Given the description of an element on the screen output the (x, y) to click on. 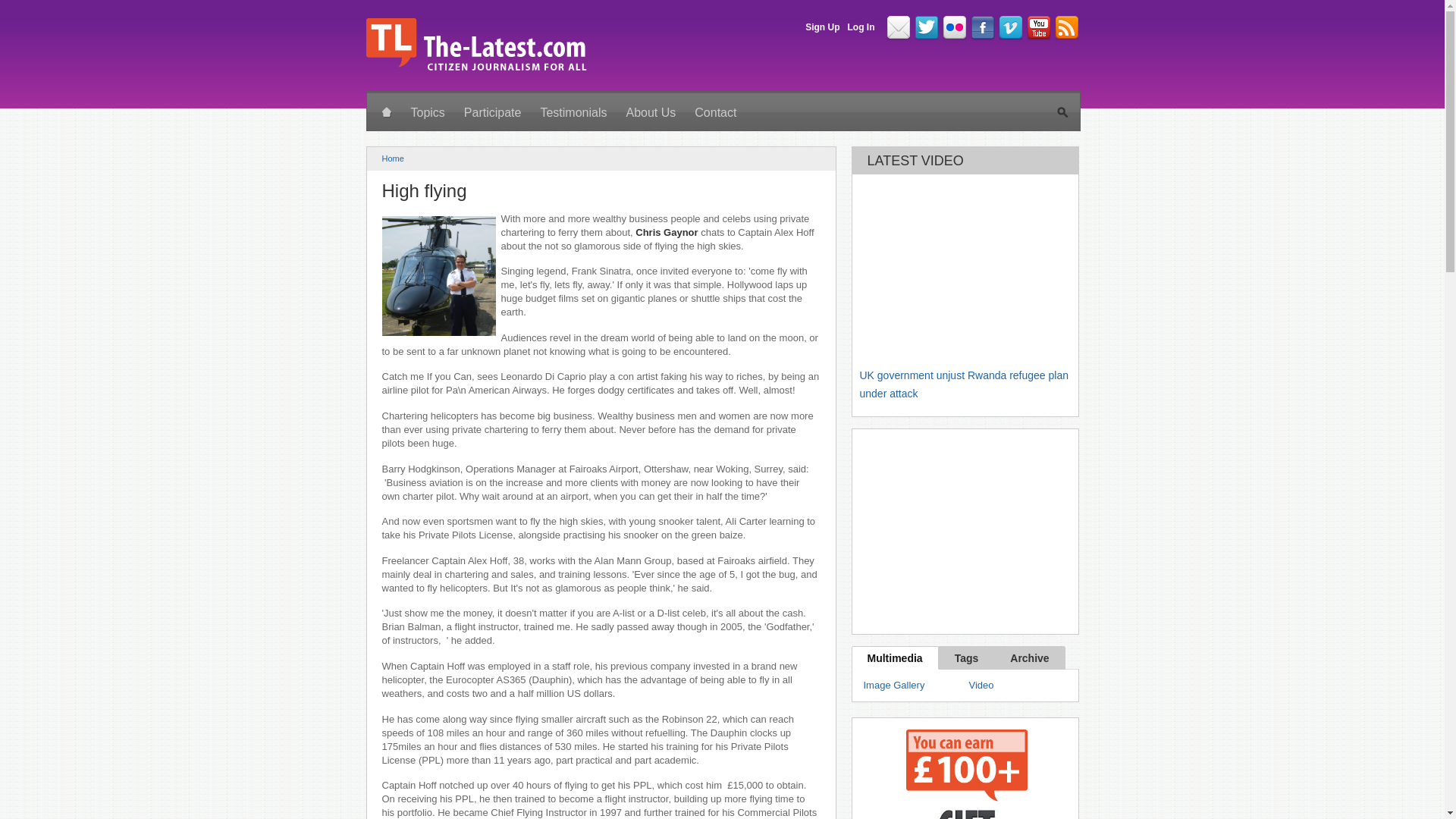
Log In (861, 27)
Topics (427, 112)
Contact (715, 112)
About Us (649, 112)
The Latest - Citizen Journalism for All (475, 69)
Sign Up (822, 27)
Home (392, 157)
Testimonials (573, 112)
